Given the description of an element on the screen output the (x, y) to click on. 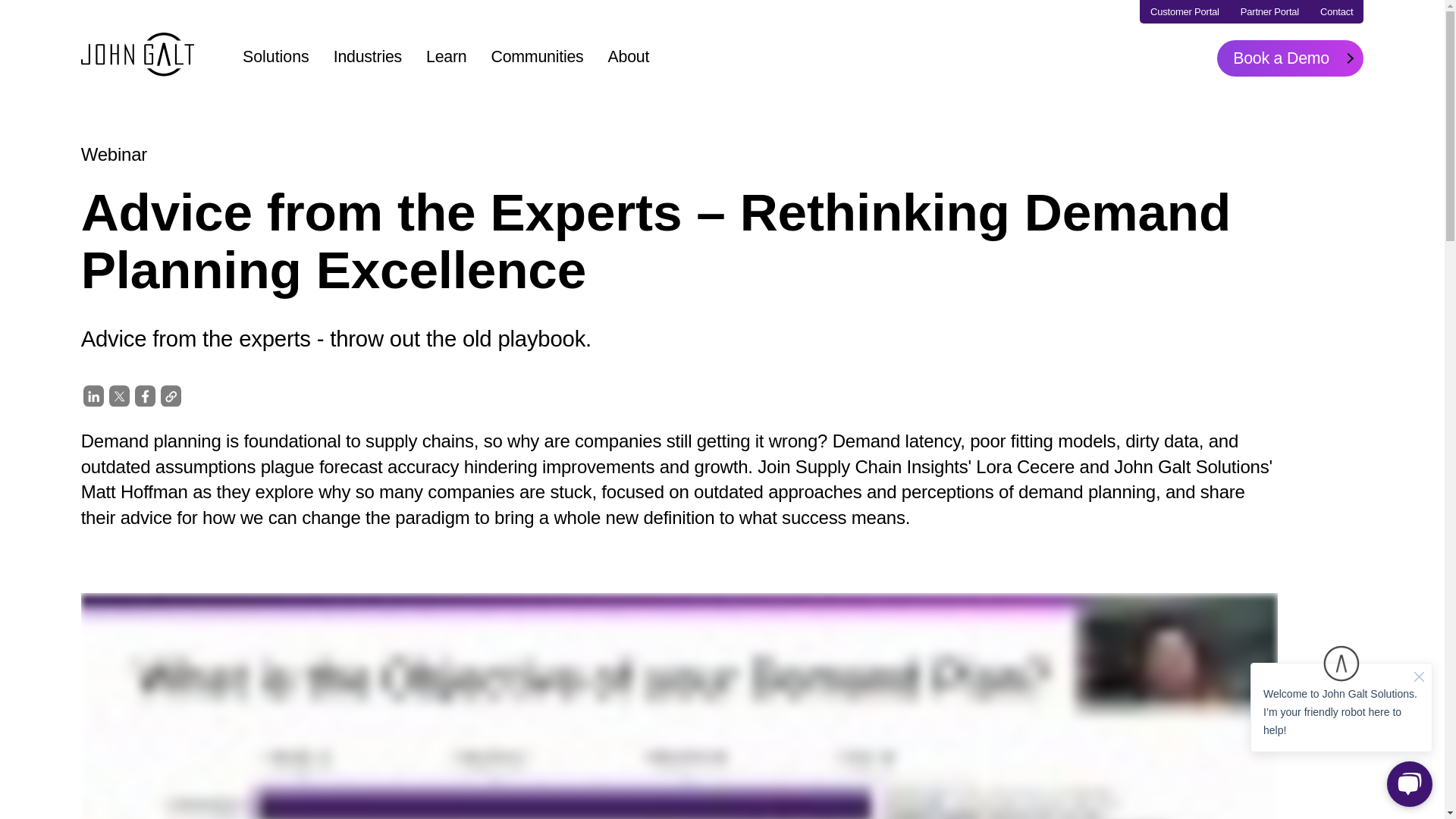
Contact (1335, 11)
John Galt (138, 54)
Customer Portal (1185, 11)
Partner Portal (1269, 11)
Industries (367, 56)
Solutions (282, 56)
John Galt (137, 56)
Chat Widget (1341, 725)
